Given the description of an element on the screen output the (x, y) to click on. 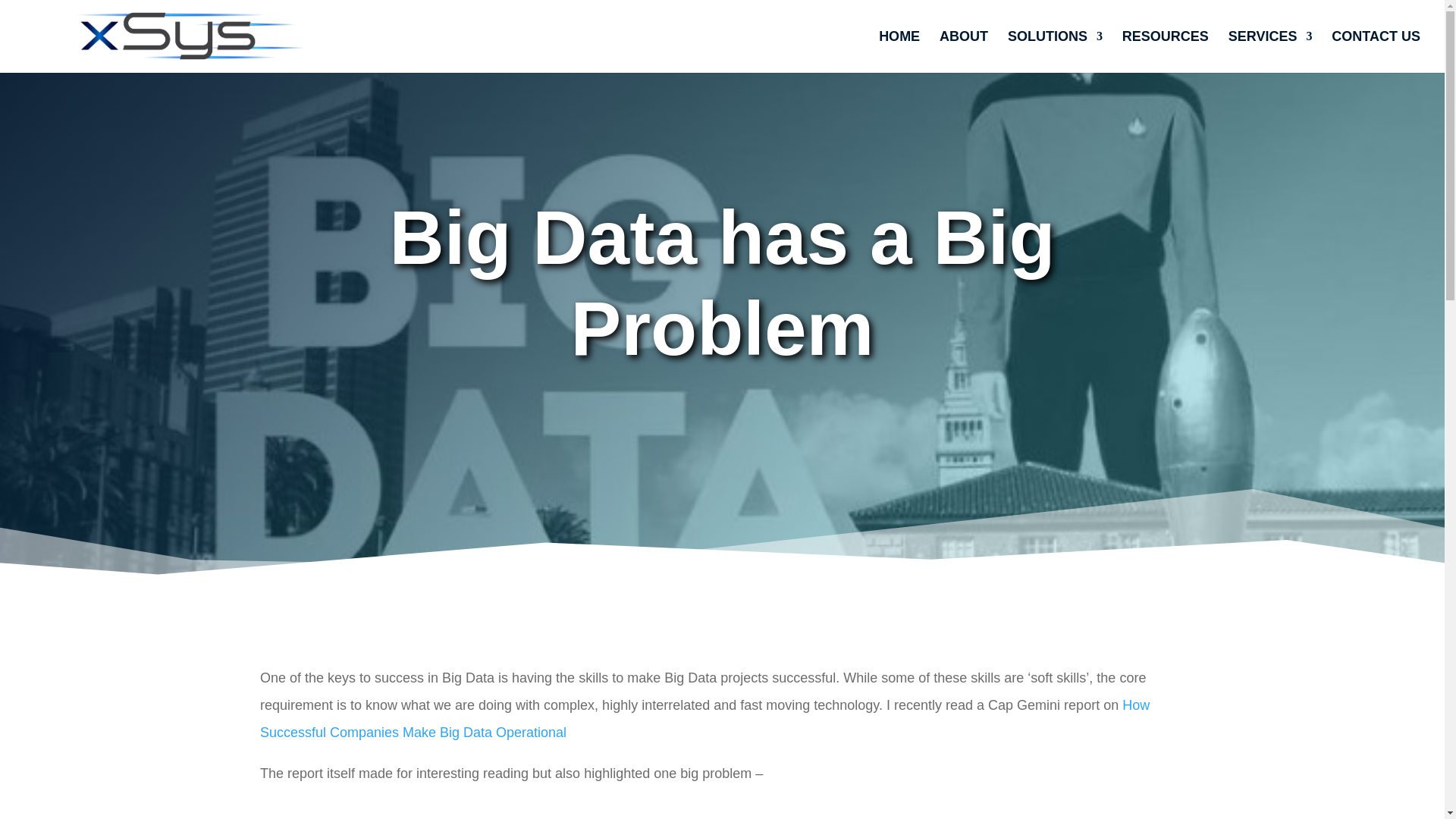
RESOURCES (1165, 51)
HOME (899, 51)
CONTACT US (1376, 51)
SERVICES (1270, 51)
SOLUTIONS (1054, 51)
How Successful Companies Make Big Data Operational  (705, 718)
ABOUT (963, 51)
